Given the description of an element on the screen output the (x, y) to click on. 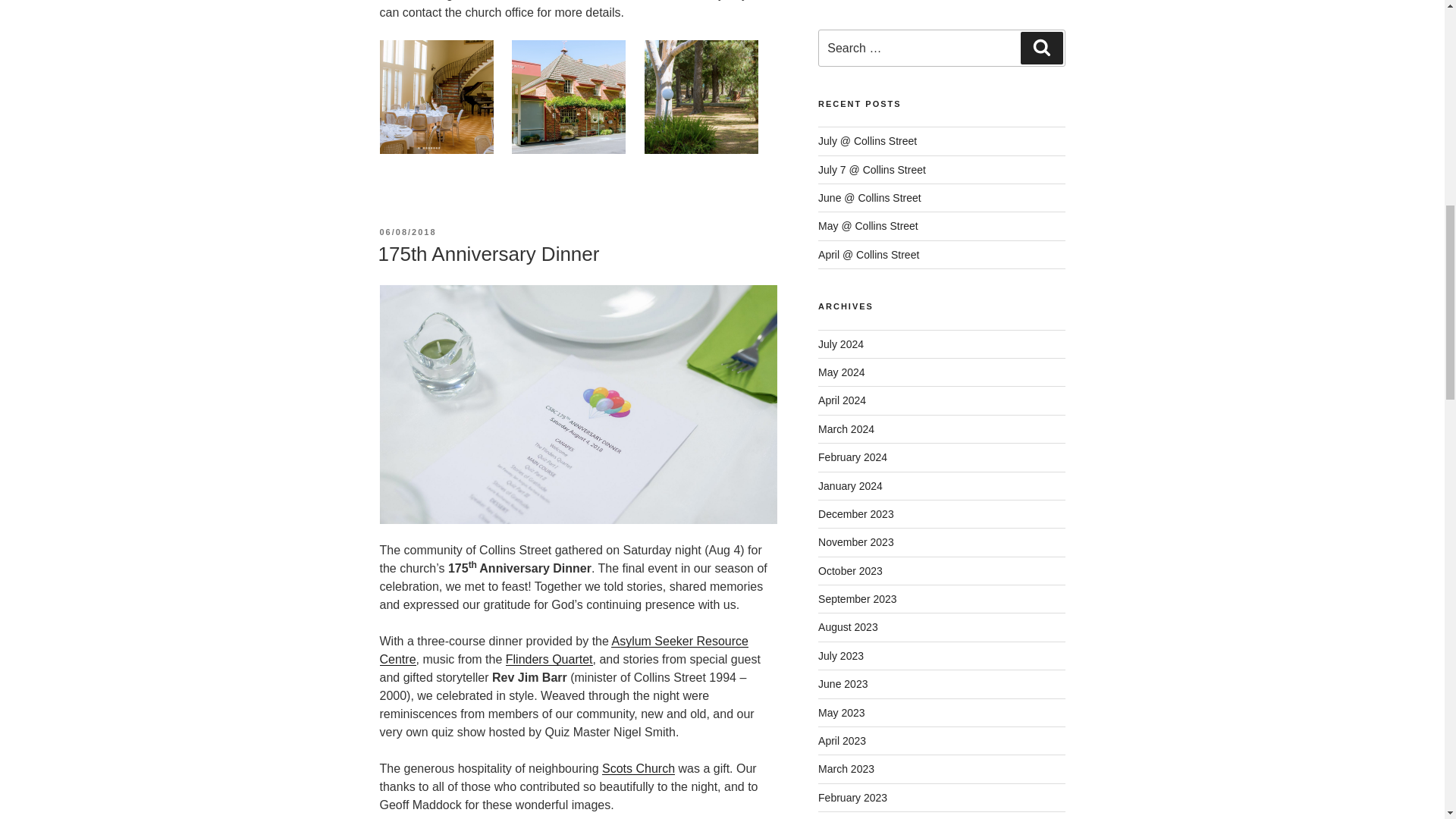
175th Anniversary Dinner (487, 253)
Flinders Quartet (548, 658)
Asylum Seeker Resource Centre (563, 649)
Scots Church (638, 768)
